Given the description of an element on the screen output the (x, y) to click on. 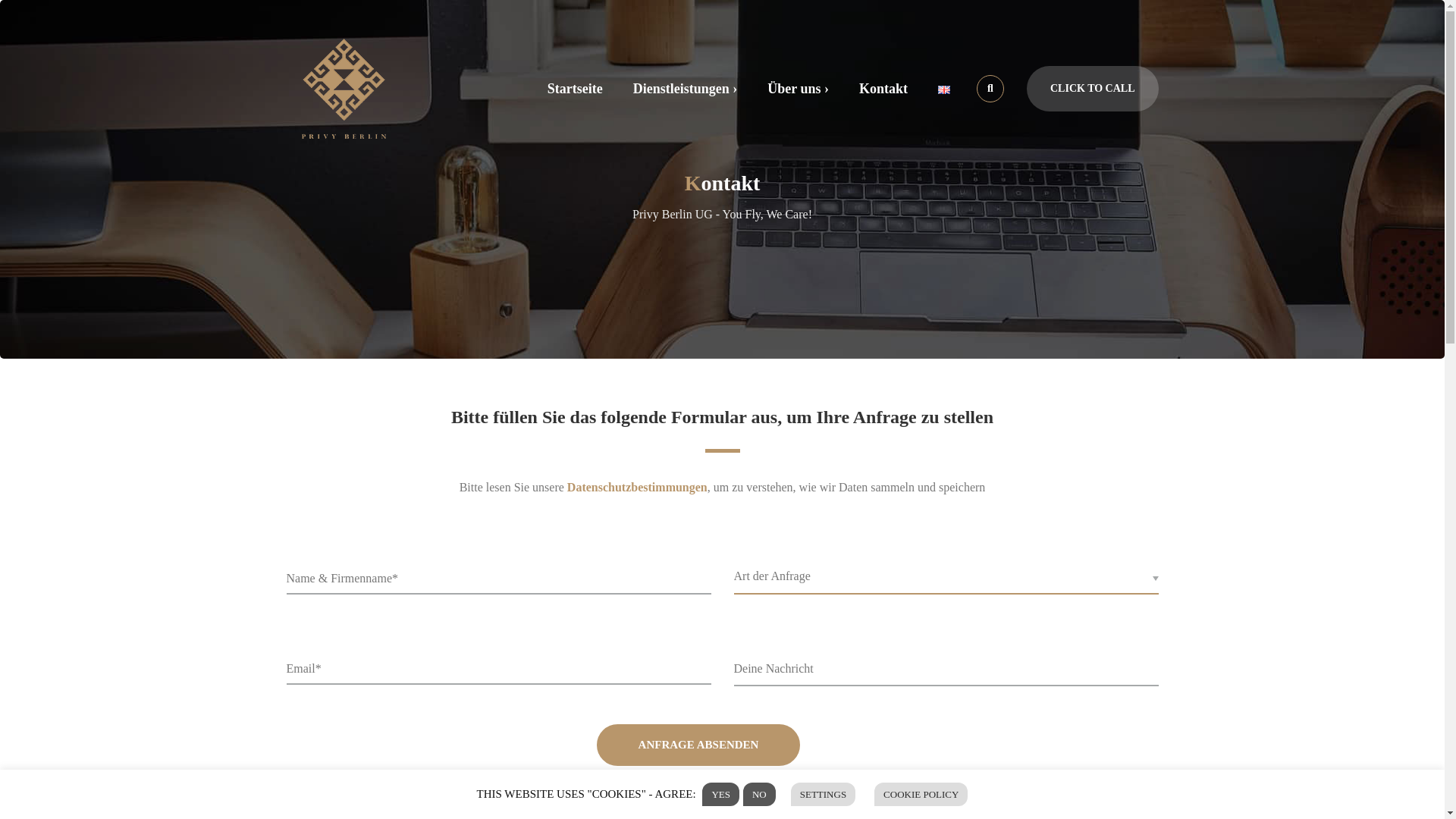
CLICK TO CALL (1092, 88)
Startseite (574, 88)
Kontakt (883, 88)
Datenschutzbestimmungen (637, 486)
ANFRAGE ABSENDEN (698, 744)
Privy Berlin UG logo (343, 87)
